Given the description of an element on the screen output the (x, y) to click on. 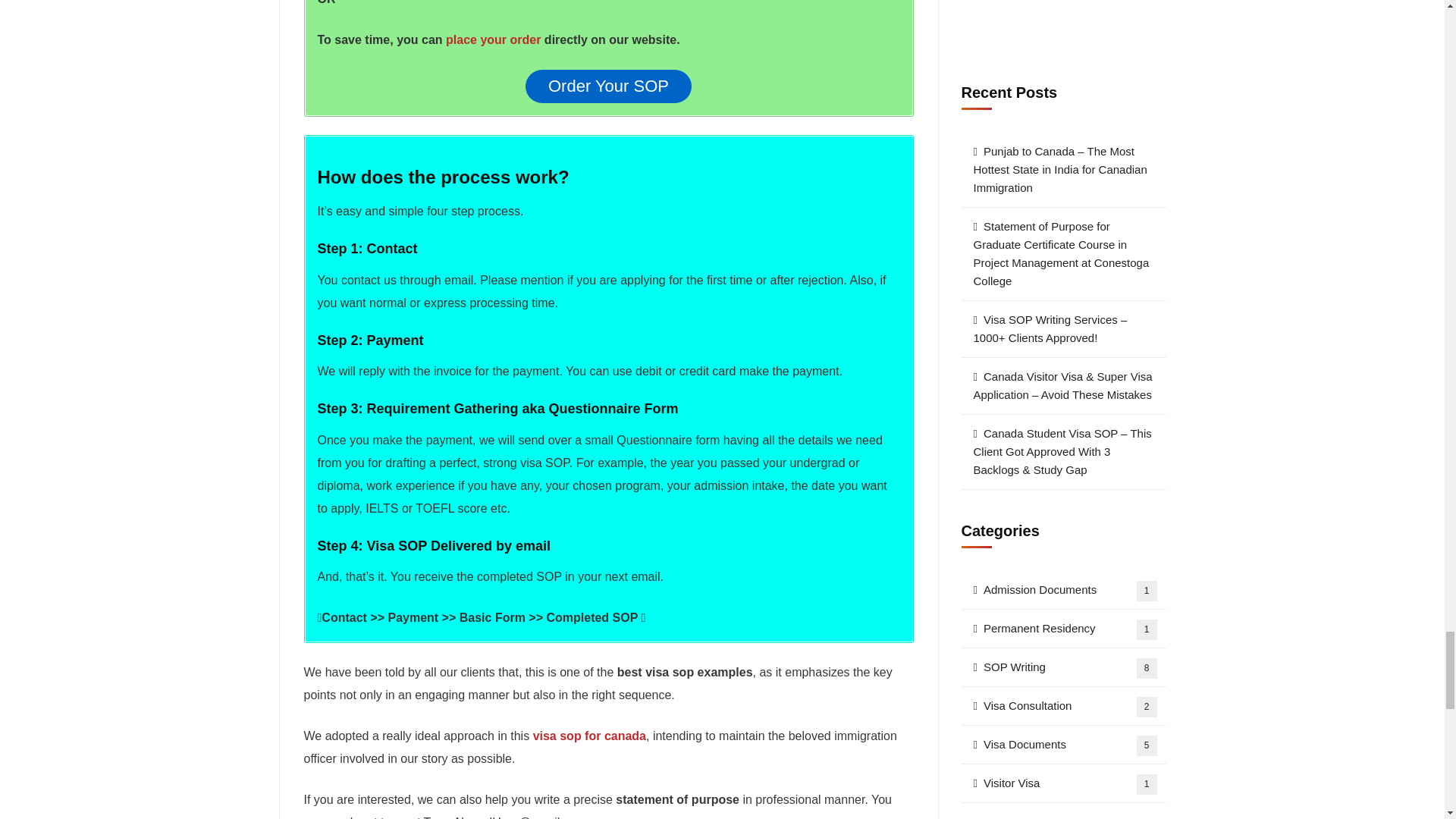
place your order (492, 39)
visa sop for canada (589, 735)
Order Your SOP (608, 86)
